Given the description of an element on the screen output the (x, y) to click on. 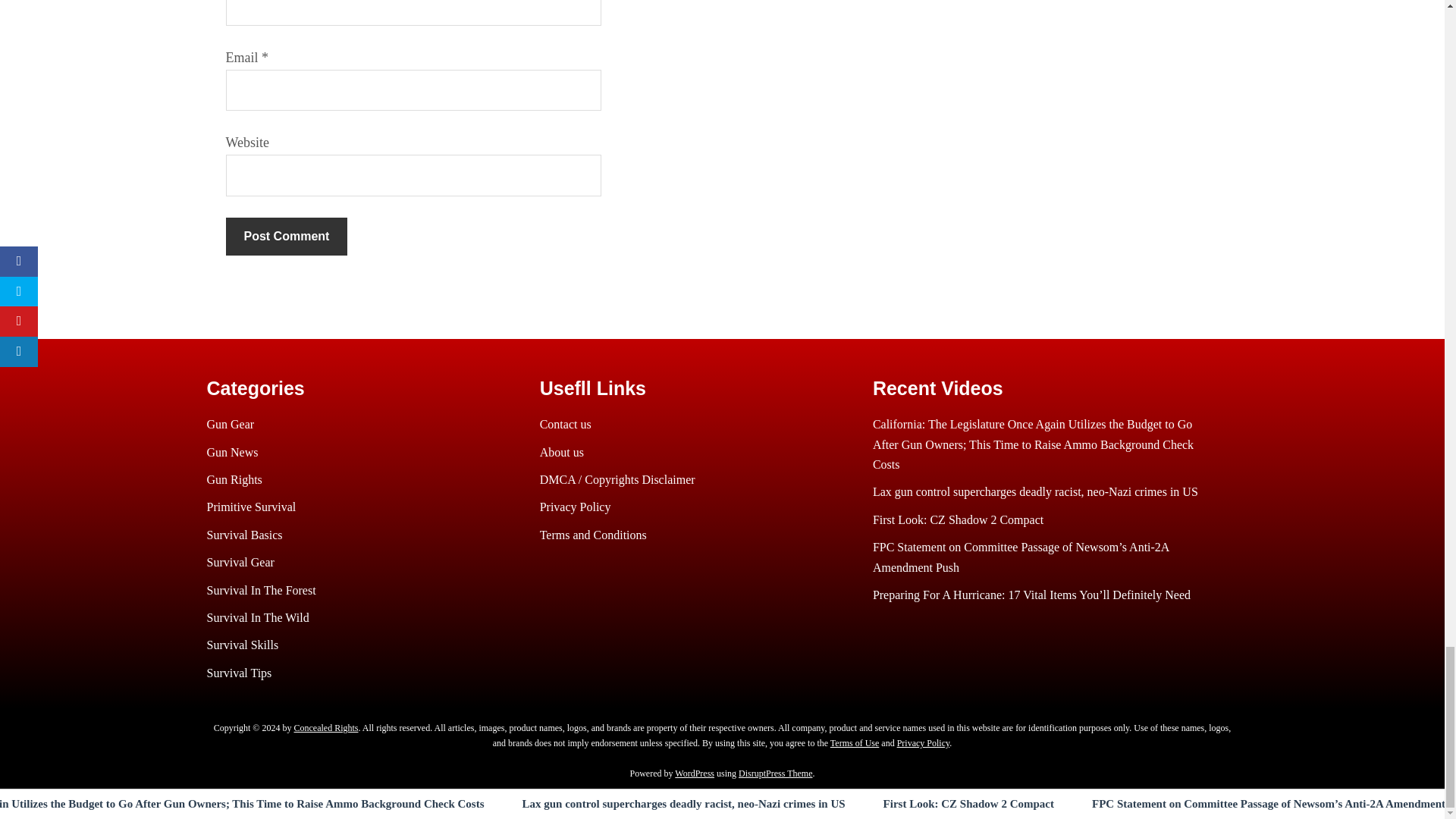
Post Comment (286, 236)
